Given the description of an element on the screen output the (x, y) to click on. 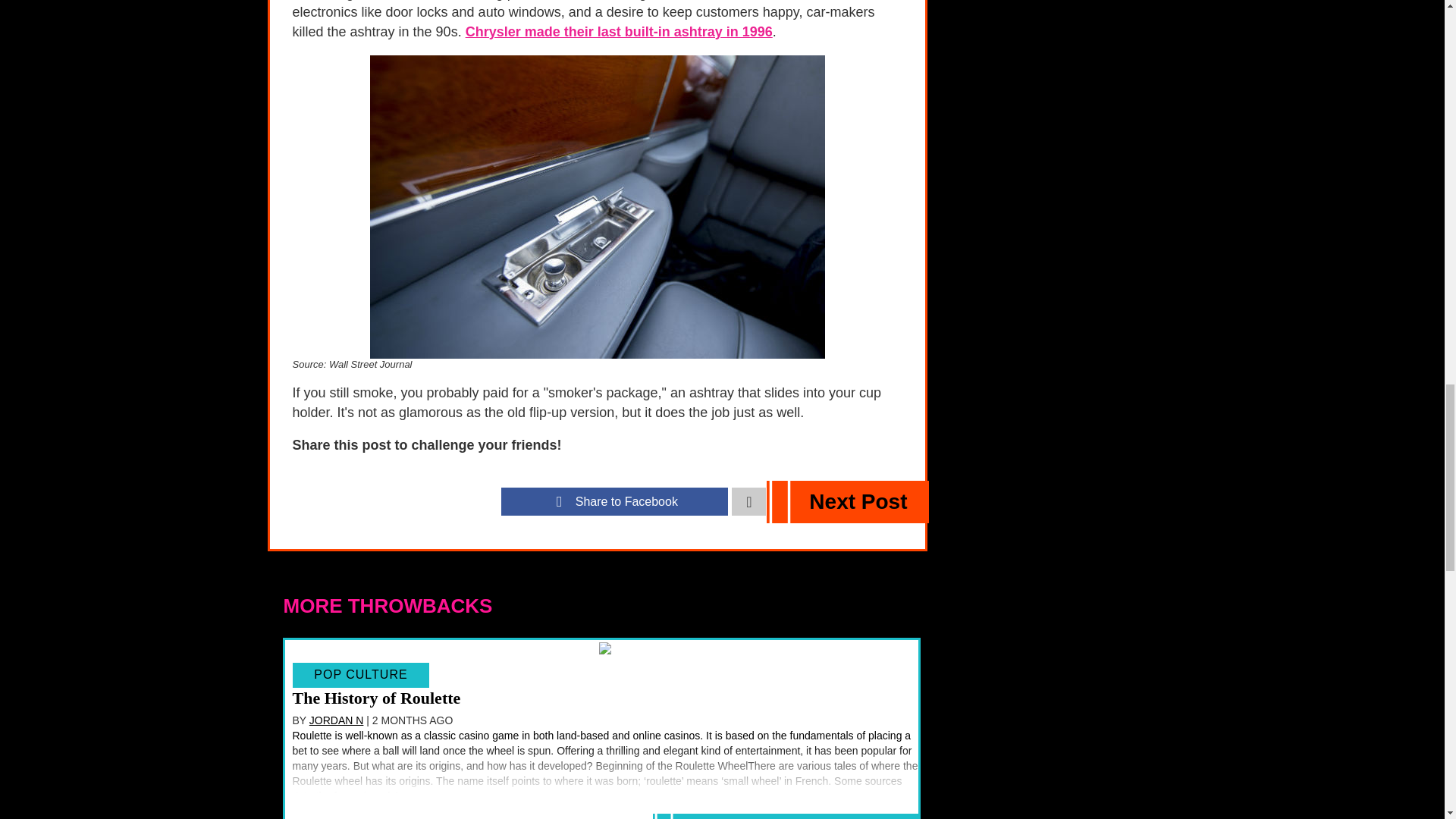
Jordan N's Profile (336, 720)
JORDAN N (336, 720)
Chrysler made their last built-in ashtray in 1996 (619, 31)
The History of Roulette (376, 697)
Next Post (847, 501)
Toggle navigation (748, 501)
CONTINUE READING (785, 816)
facebook (614, 501)
POP CULTURE (360, 674)
